Given the description of an element on the screen output the (x, y) to click on. 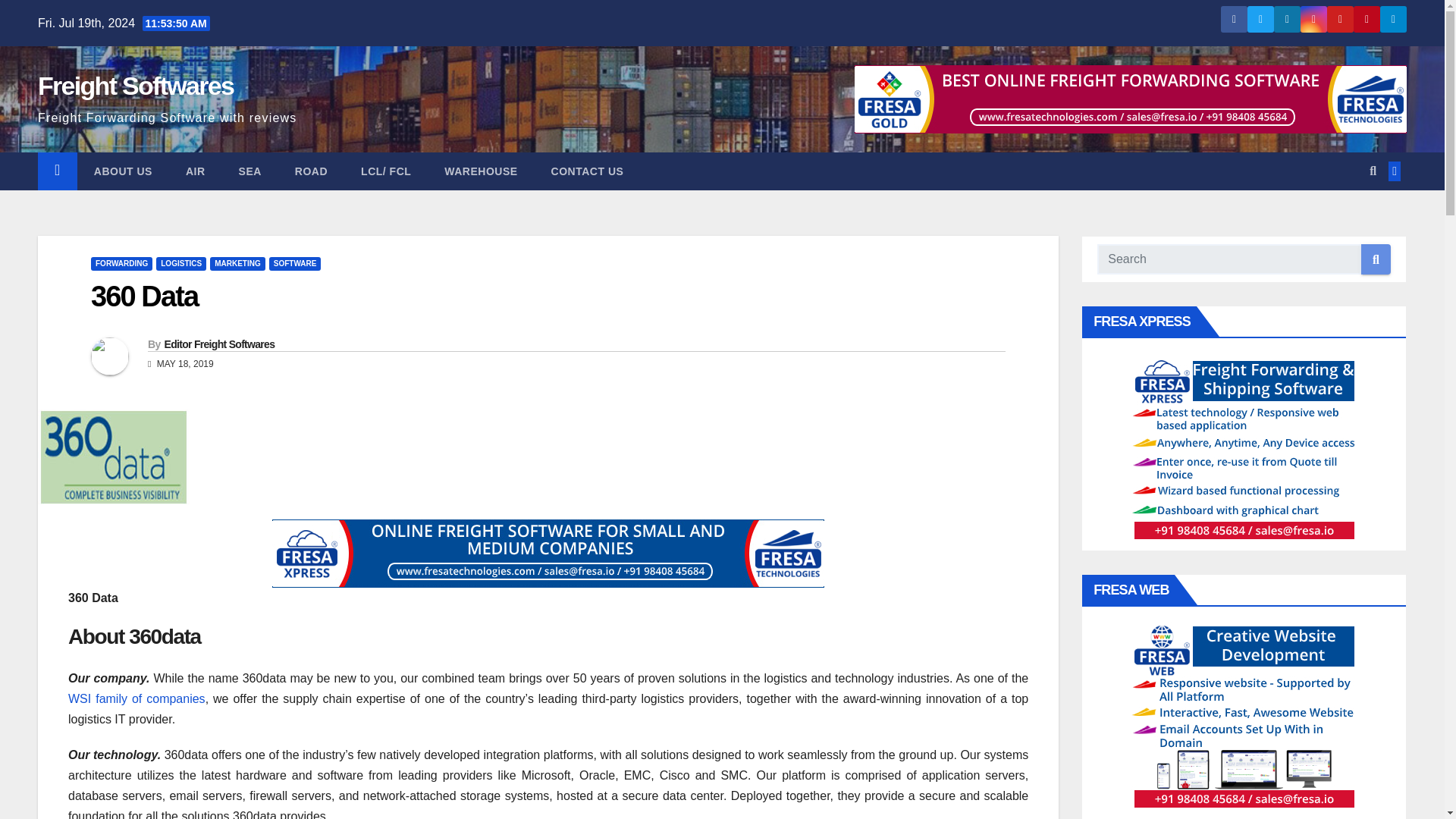
SOFTWARE (295, 264)
MARKETING (236, 264)
Road (310, 171)
LOGISTICS (180, 264)
AIR (195, 171)
About Us (122, 171)
WAREHOUSE (481, 171)
Freight Softwares (134, 85)
Permalink to: 360 Data (144, 296)
WSI family of companies (136, 698)
ROAD (310, 171)
ABOUT US (122, 171)
Warehouse (481, 171)
Sea (250, 171)
SEA (250, 171)
